Given the description of an element on the screen output the (x, y) to click on. 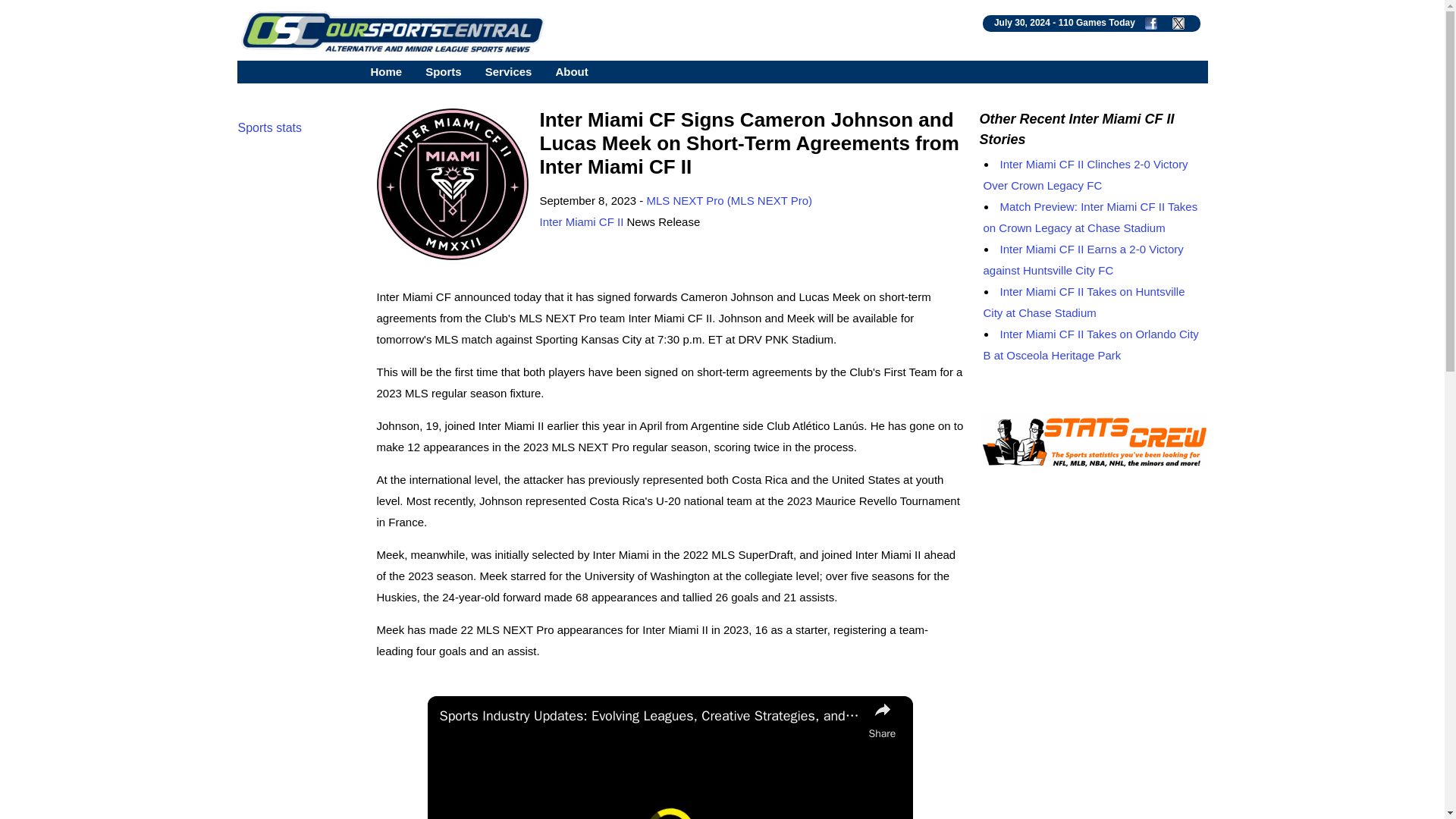
110 Games Today (1096, 22)
Home (385, 71)
Inter Miami CF II (582, 221)
Sports stats (269, 127)
